Given the description of an element on the screen output the (x, y) to click on. 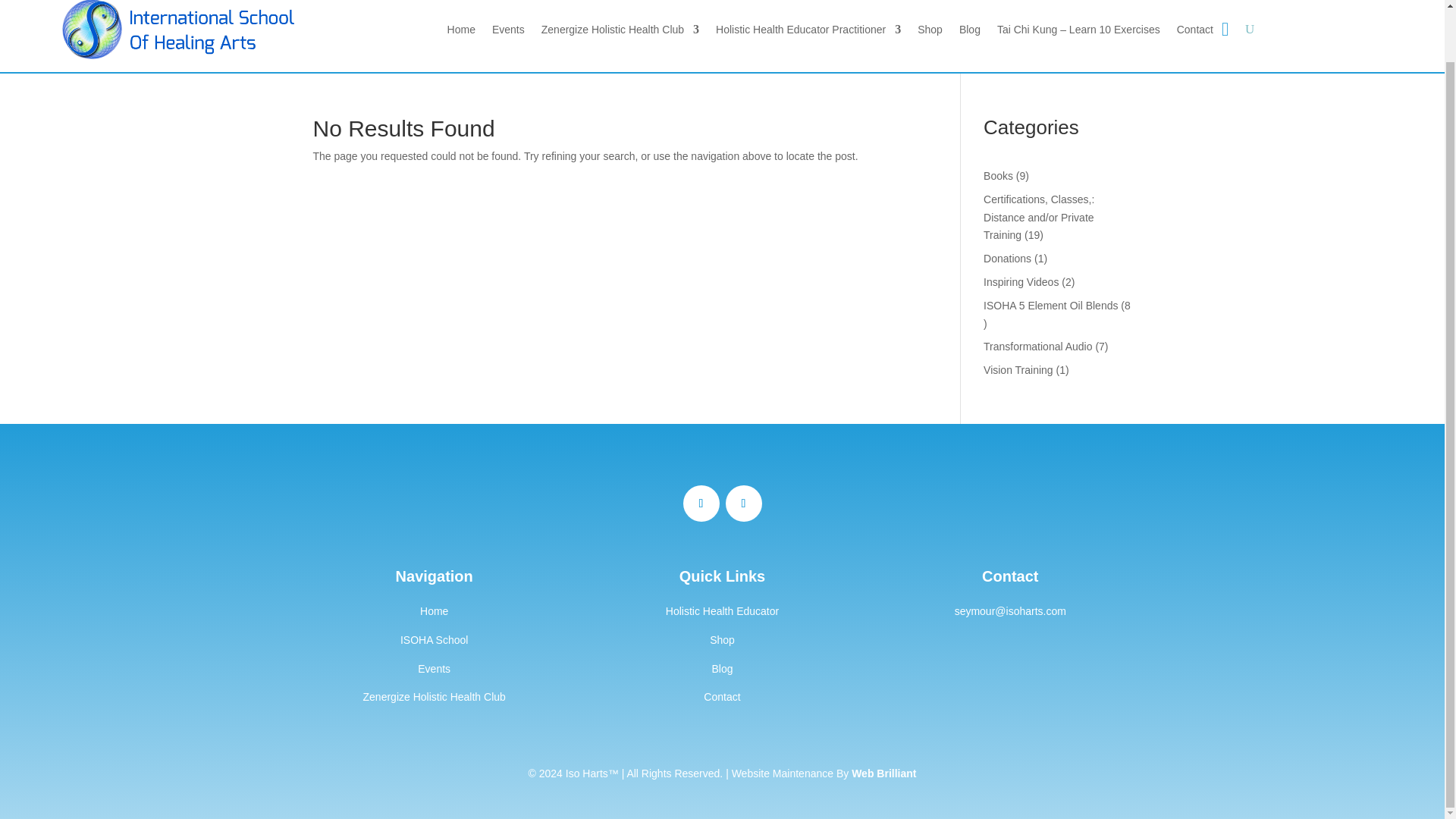
Vision Training (1018, 369)
Zenergize Holistic Health Club (619, 32)
Blog (721, 668)
Web Brilliant (883, 773)
Books (998, 175)
ISOHA School (434, 639)
Transformational Audio (1038, 346)
Holistic Health Educator (721, 611)
Follow on Instagram (743, 503)
Follow on Facebook (700, 503)
Shop (722, 639)
Donations (1007, 258)
Holistic Health Educator Practitioner (808, 32)
Zenergize Holistic Health Club (433, 696)
Contact (721, 696)
